Given the description of an element on the screen output the (x, y) to click on. 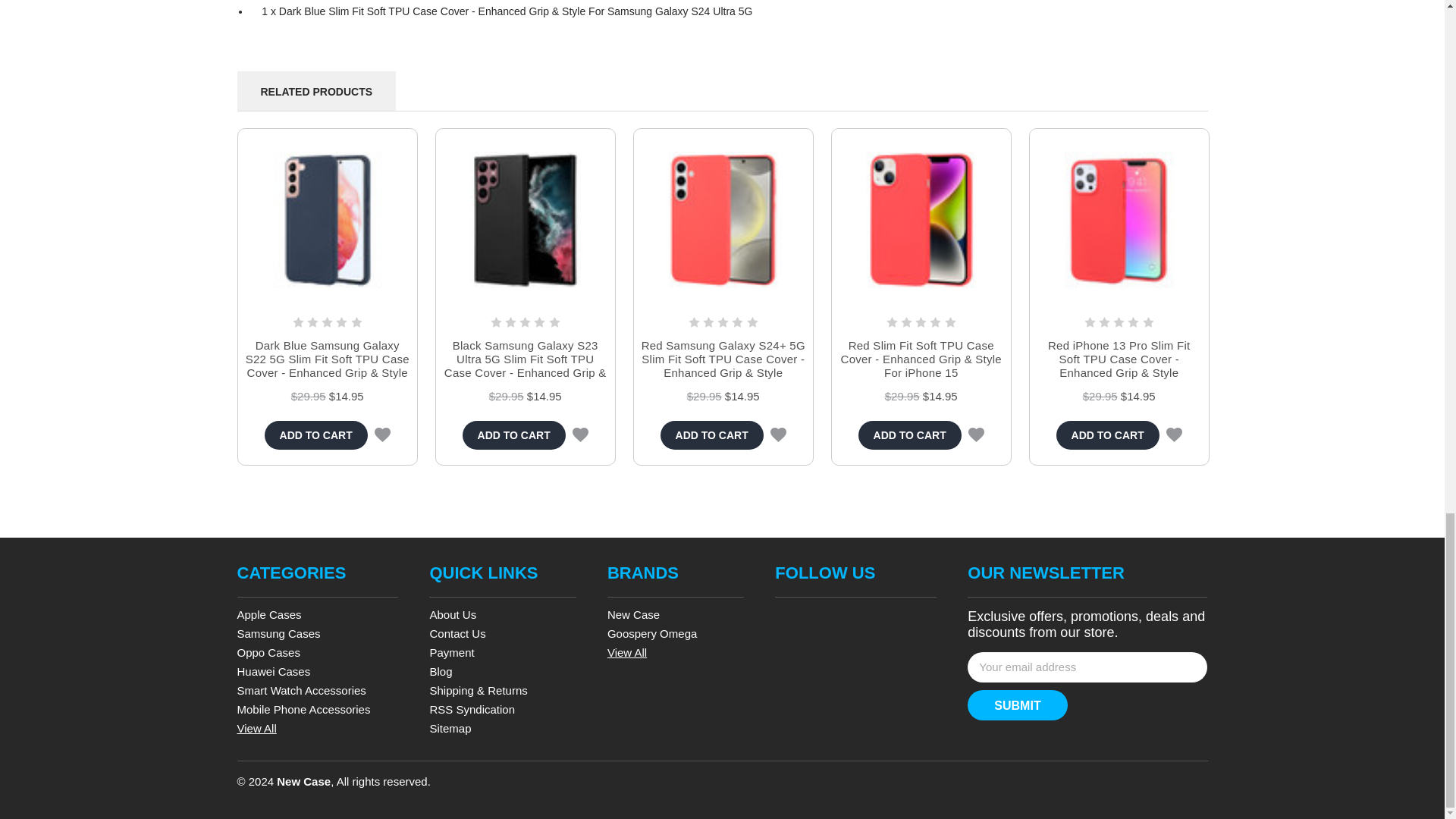
submit (1017, 705)
